Given the description of an element on the screen output the (x, y) to click on. 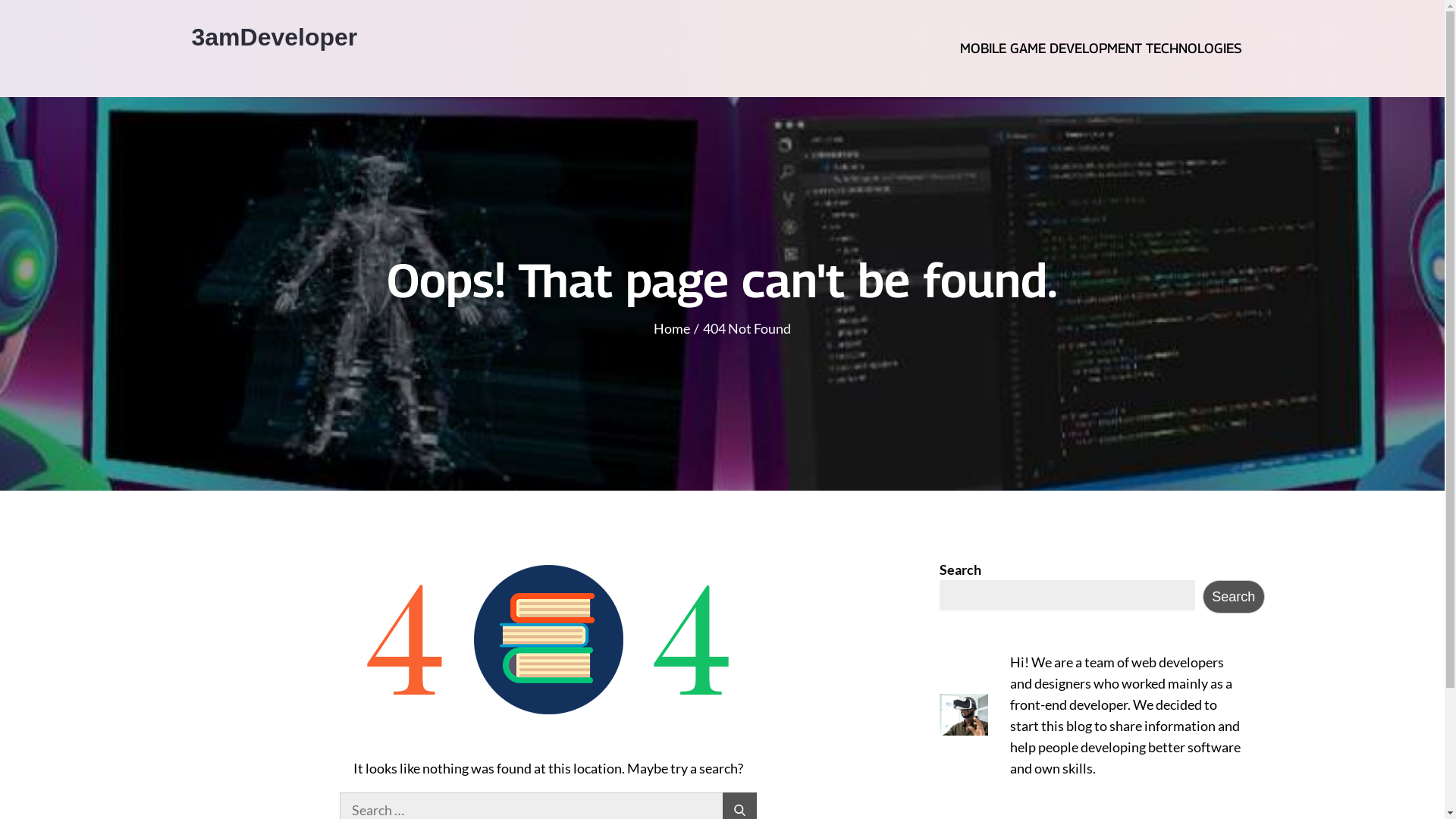
MOBILE GAME DEVELOPMENT TECHNOLOGIES Element type: text (1101, 48)
Home Element type: text (671, 328)
3amDeveloper Element type: text (274, 36)
Search Element type: text (1233, 596)
